Given the description of an element on the screen output the (x, y) to click on. 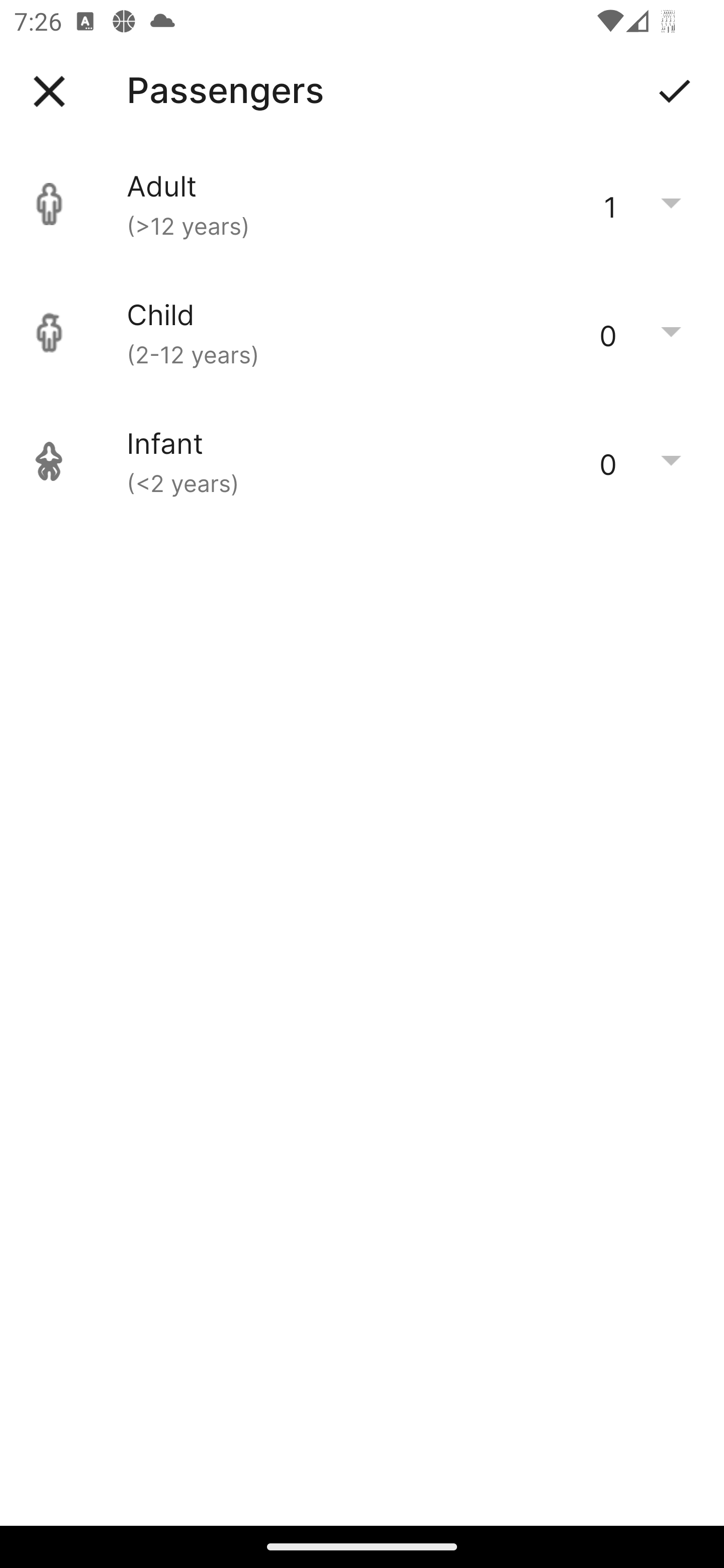
Adult (>12 years) 1 (362, 204)
Child (2-12 years) 0 (362, 332)
Infant (<2 years) 0 (362, 461)
